Given the description of an element on the screen output the (x, y) to click on. 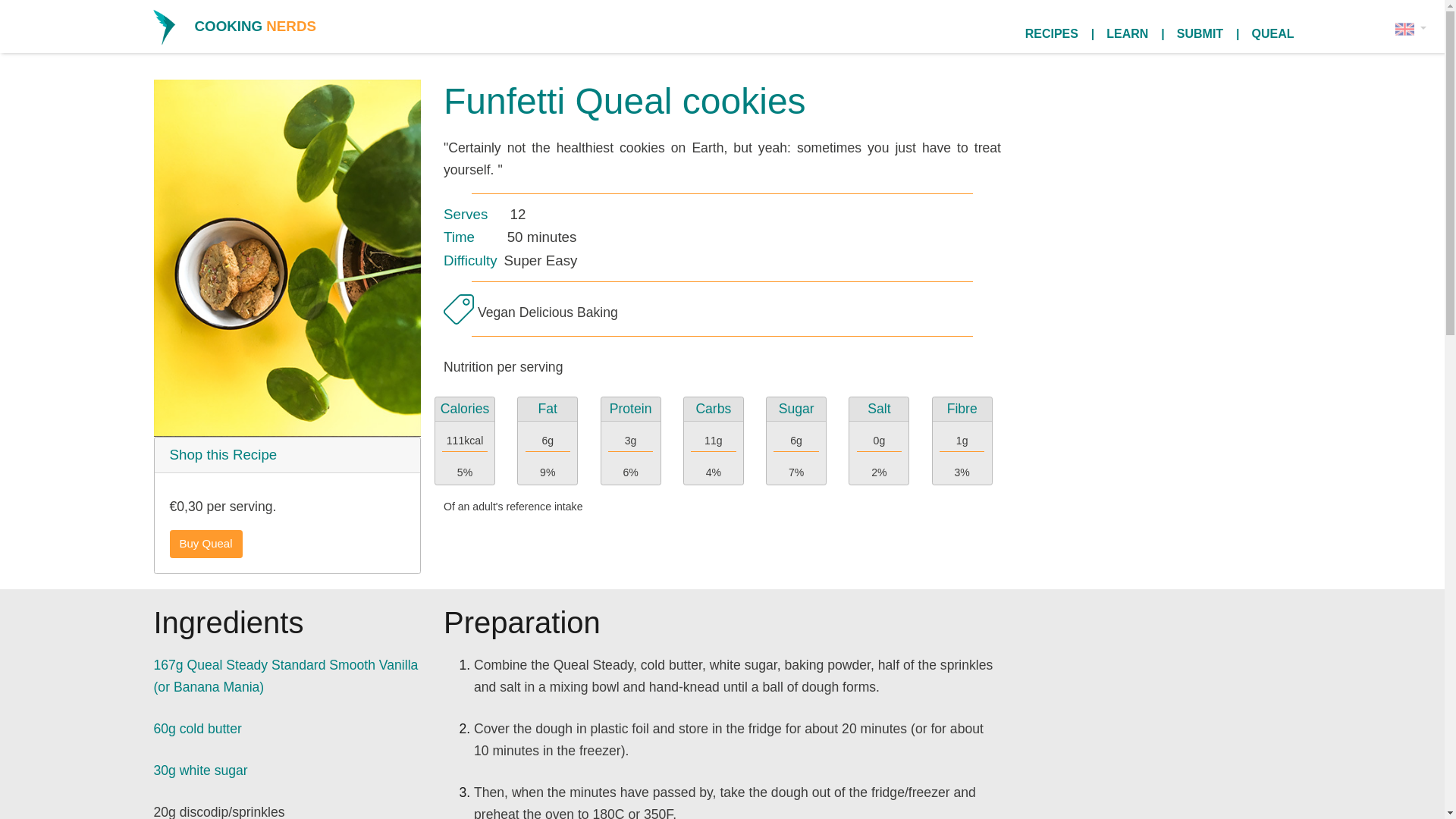
COOKING NERDS (254, 26)
30g white sugar (199, 770)
QUEAL (1272, 26)
60g cold butter (196, 728)
Buy Queal (206, 543)
